Given the description of an element on the screen output the (x, y) to click on. 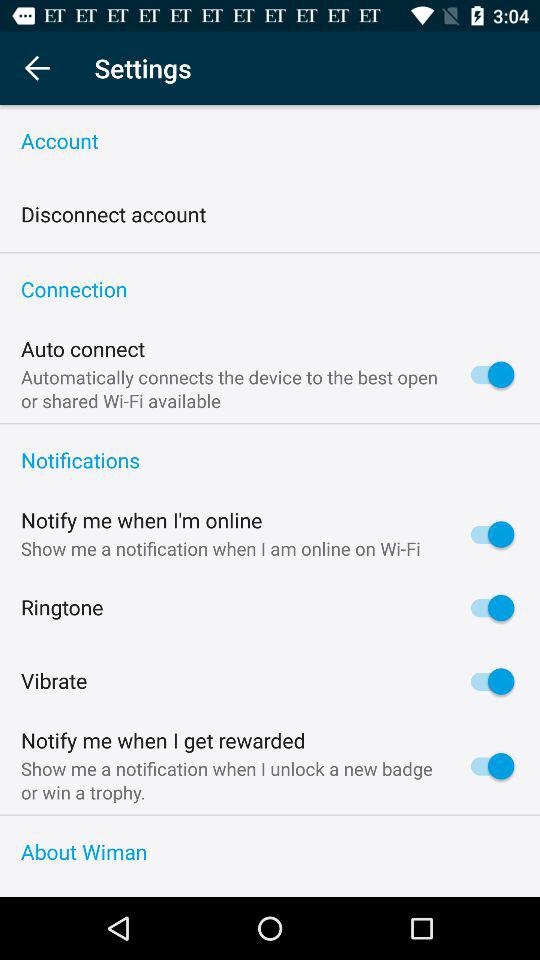
launch item above connection icon (270, 252)
